Given the description of an element on the screen output the (x, y) to click on. 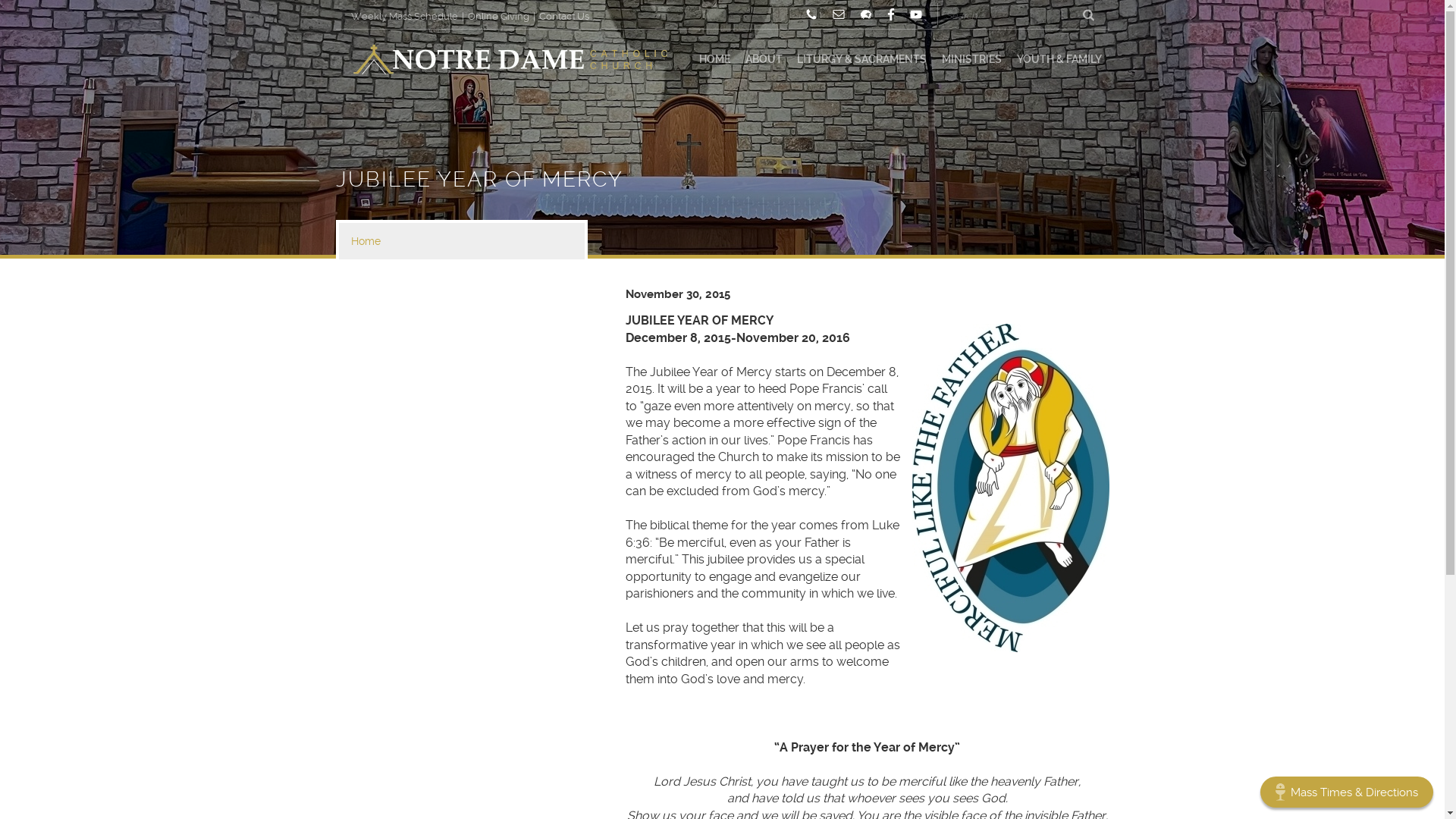
Facebook Element type: text (890, 14)
Phone Element type: text (811, 14)
Contact Us Element type: text (560, 17)
Flocknote Element type: text (865, 14)
LITURGY & SACRAMENTS Element type: text (862, 59)
Email Element type: text (838, 14)
Home Element type: text (460, 240)
MINISTRIES Element type: text (971, 59)
ABOUT Element type: text (763, 59)
Online Giving Element type: text (496, 17)
YOUTH & FAMILY Element type: text (1059, 59)
YouTube Element type: text (916, 14)
Weekly Mass Schedule Element type: text (405, 17)
HOME Element type: text (714, 59)
